Given the description of an element on the screen output the (x, y) to click on. 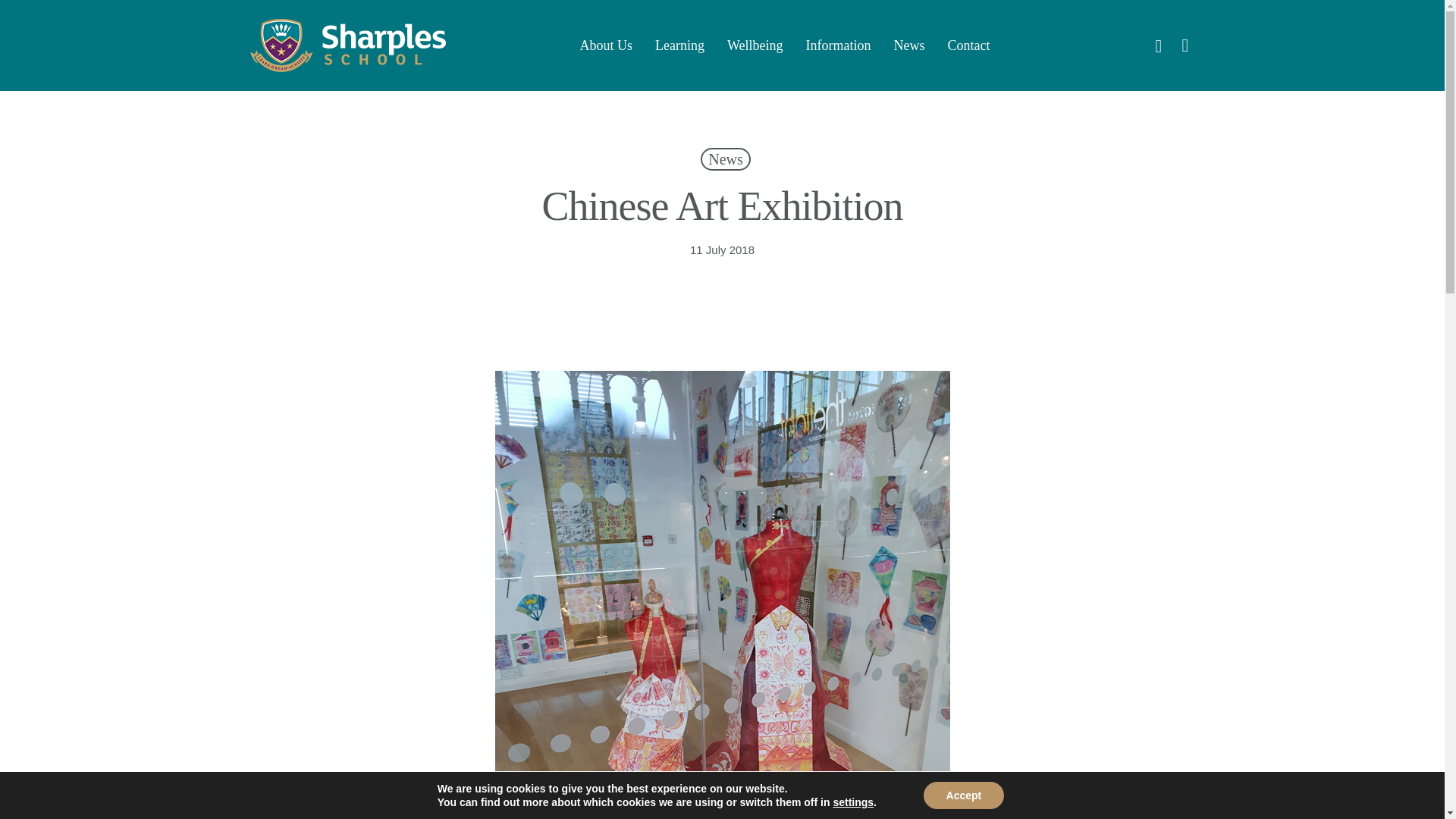
Learning (679, 45)
About Us (607, 45)
